Given the description of an element on the screen output the (x, y) to click on. 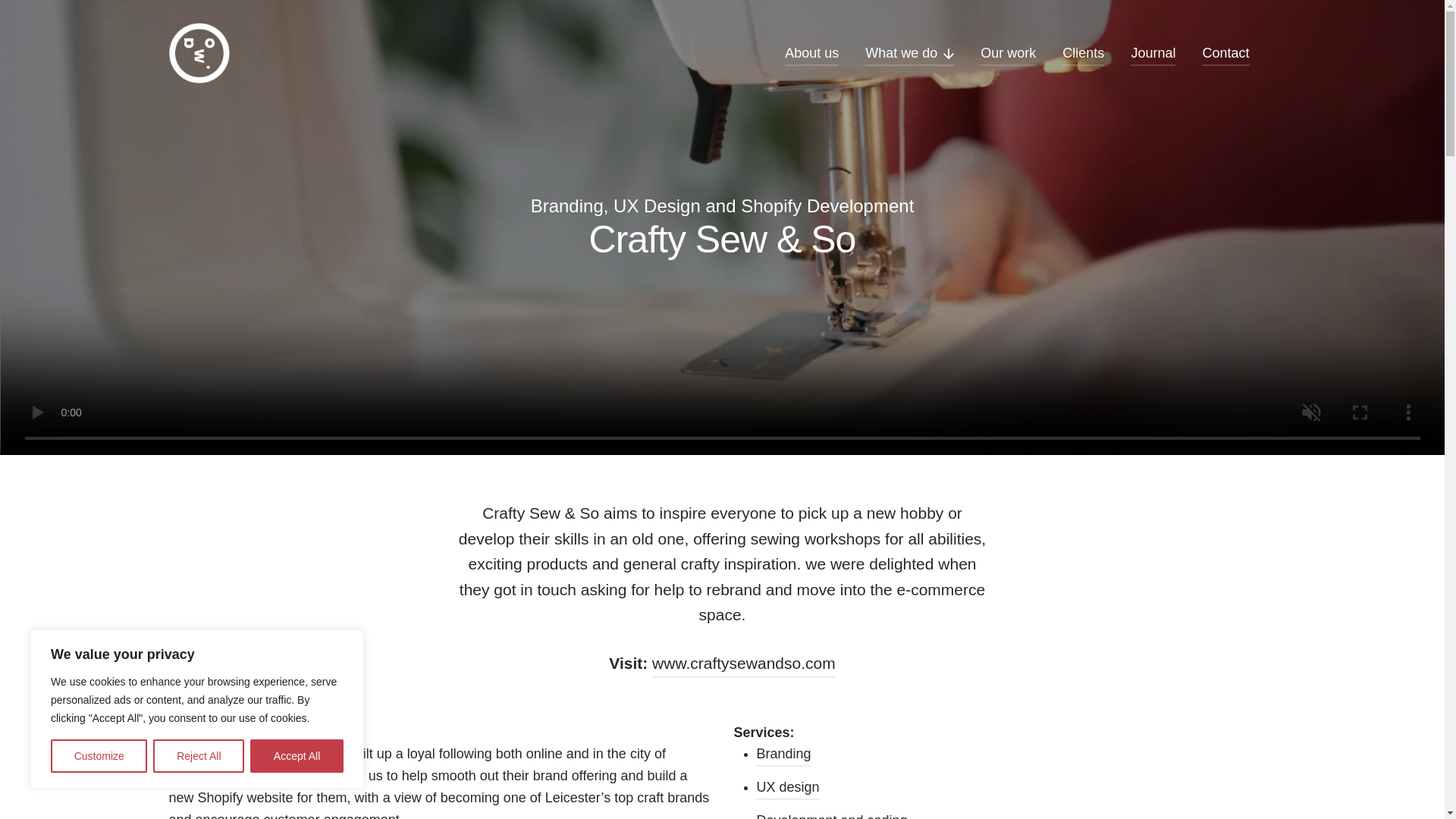
Accept All (296, 756)
Our work (1007, 53)
Clients (1082, 53)
What we do (908, 53)
About us (811, 53)
Customize (98, 756)
Reject All (198, 756)
Branding (783, 753)
Development and coding (832, 814)
Contact (1225, 53)
www.craftysewandso.com (743, 663)
UX design (788, 787)
Journal (1152, 53)
